Given the description of an element on the screen output the (x, y) to click on. 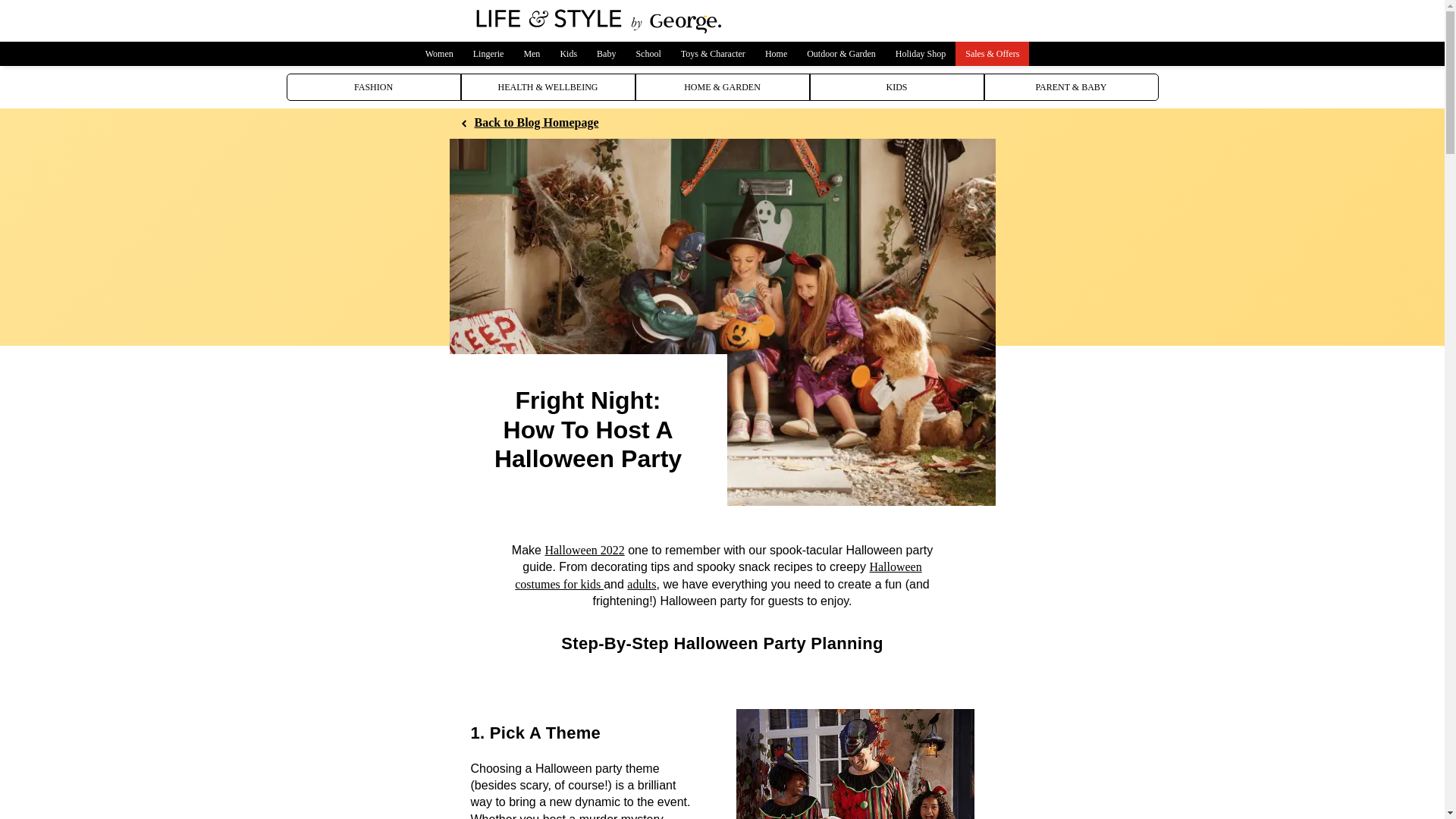
Women (438, 53)
Holiday Shop (920, 53)
adults (641, 584)
Lingerie (488, 53)
Halloween costumes for kids  (718, 574)
Halloween 2022 (584, 549)
Baby (606, 53)
Back to Blog Homepage (529, 122)
FASHION (373, 86)
Men (531, 53)
